Given the description of an element on the screen output the (x, y) to click on. 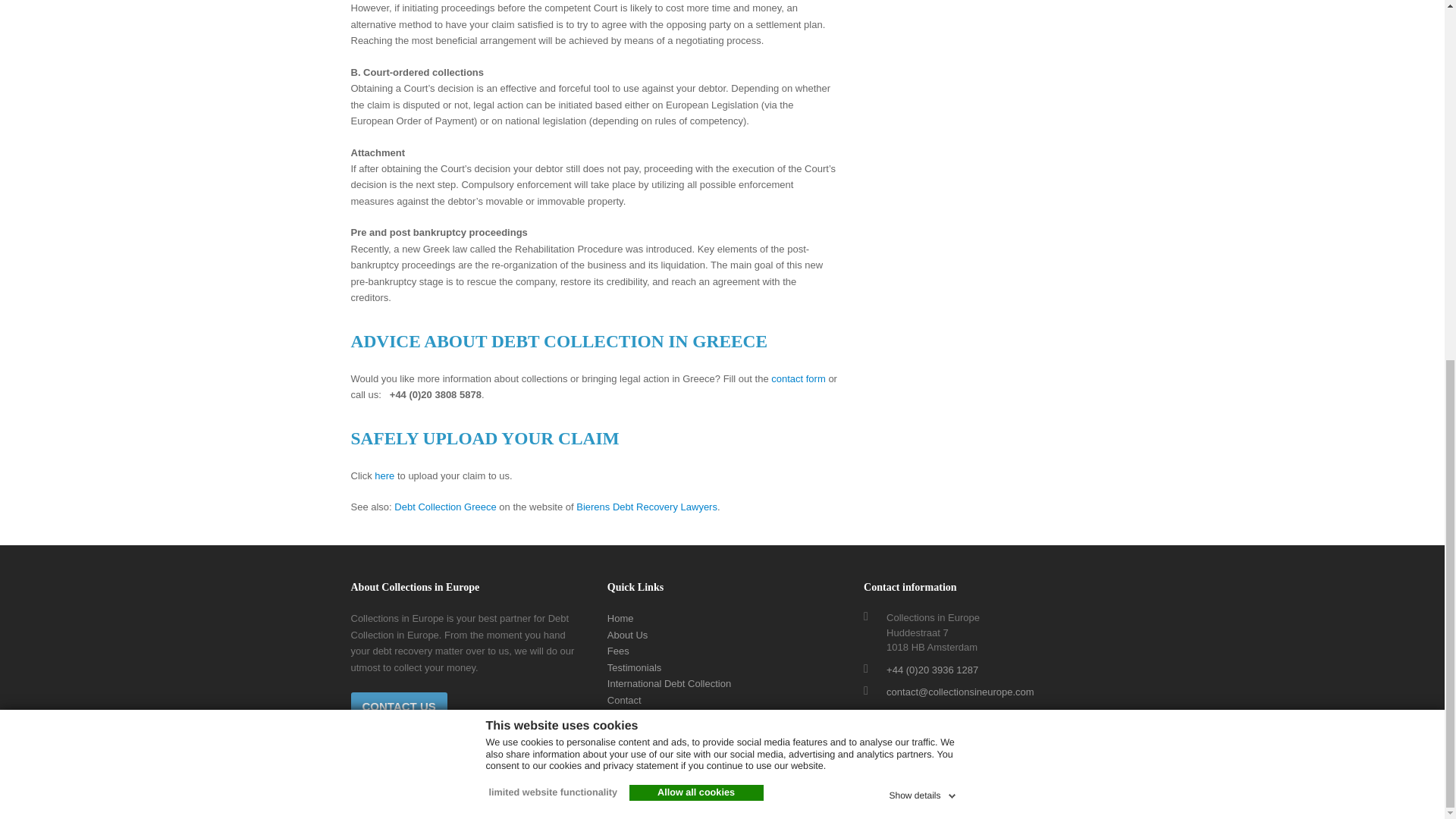
Allow all cookies (695, 154)
Show details (923, 154)
limited website functionality (550, 154)
